Given the description of an element on the screen output the (x, y) to click on. 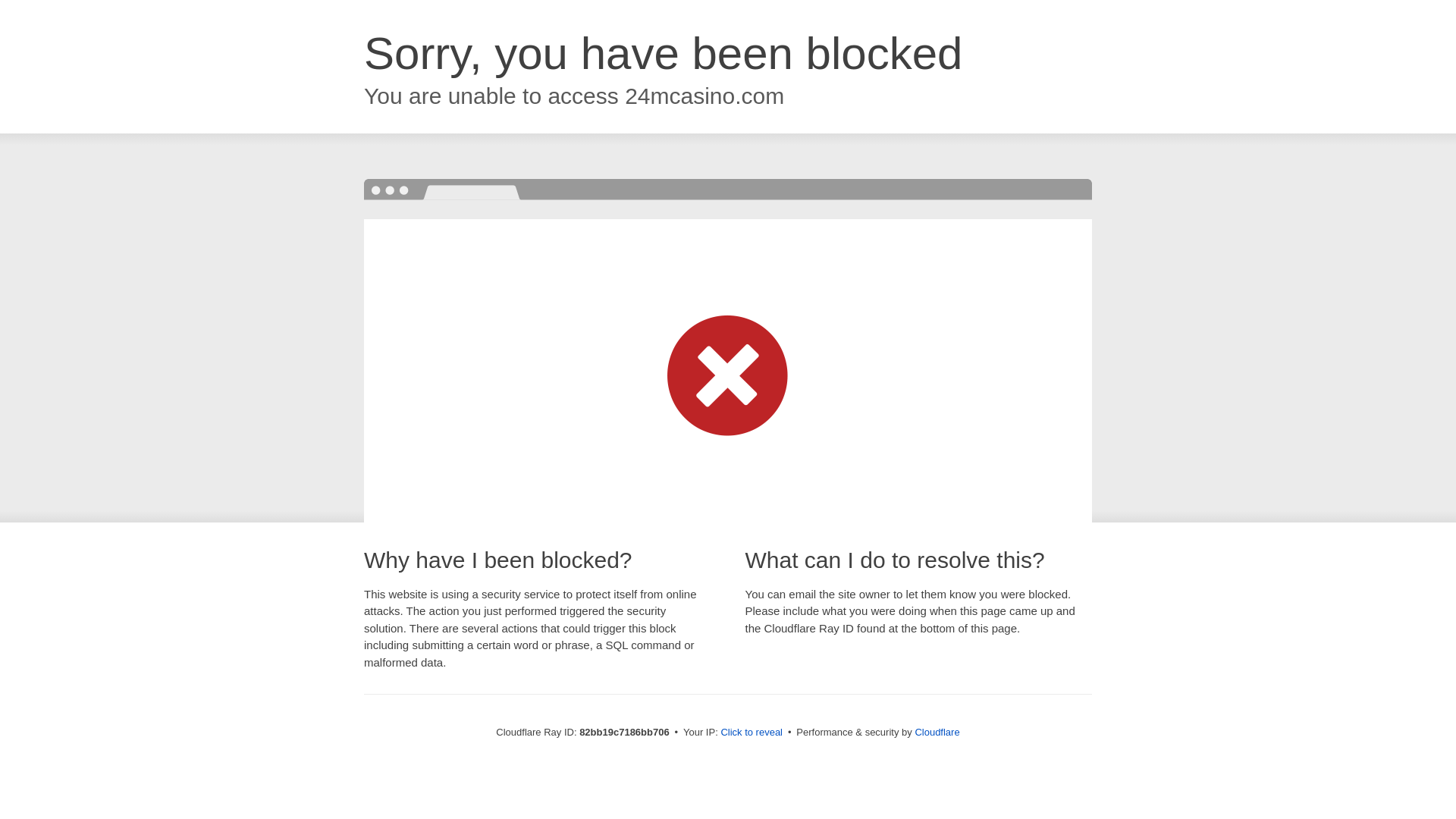
Cloudflare Element type: text (936, 731)
Click to reveal Element type: text (751, 732)
